Given the description of an element on the screen output the (x, y) to click on. 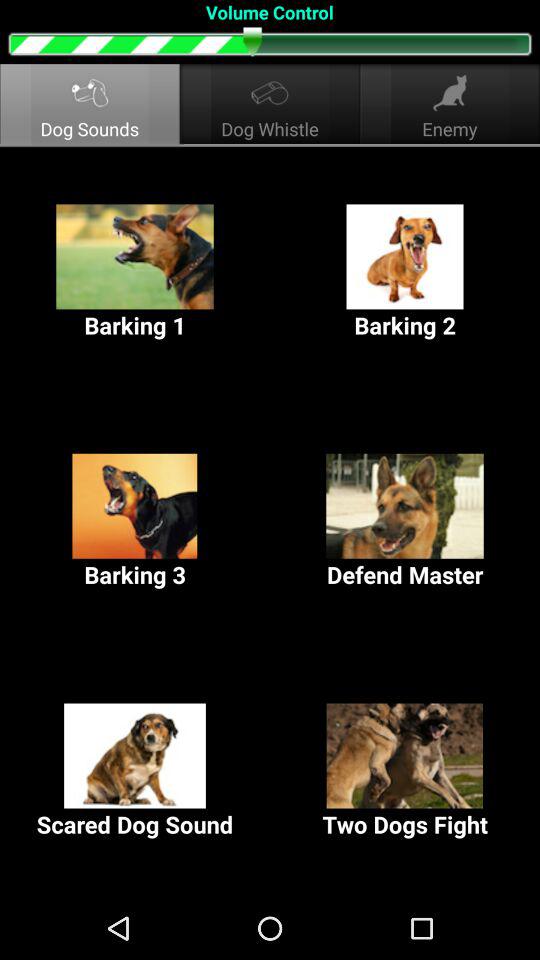
launch the button below barking 1 (135, 521)
